Given the description of an element on the screen output the (x, y) to click on. 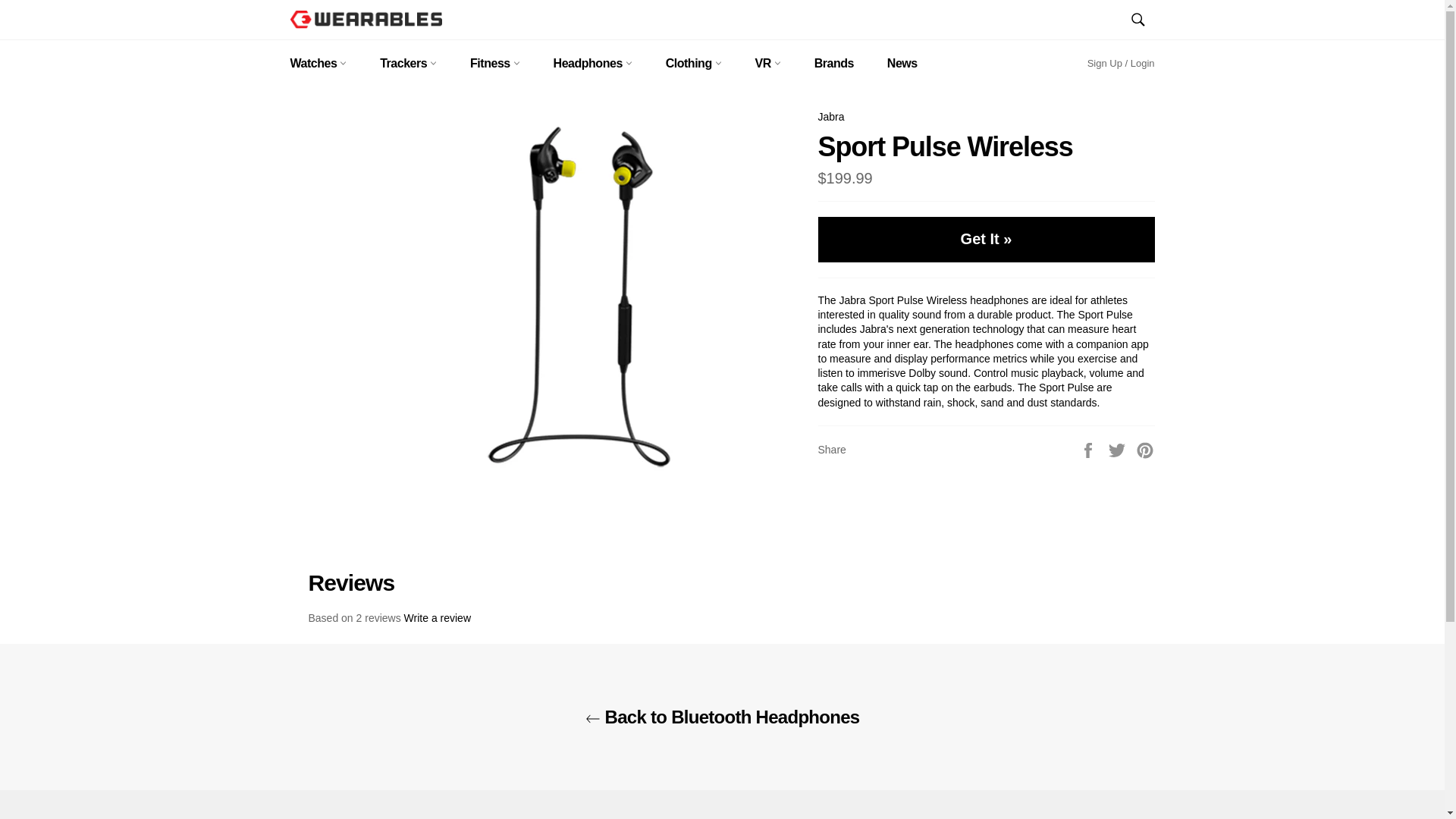
Pin on Pinterest (1144, 449)
Share on Facebook (1089, 449)
Tweet on Twitter (1118, 449)
